Given the description of an element on the screen output the (x, y) to click on. 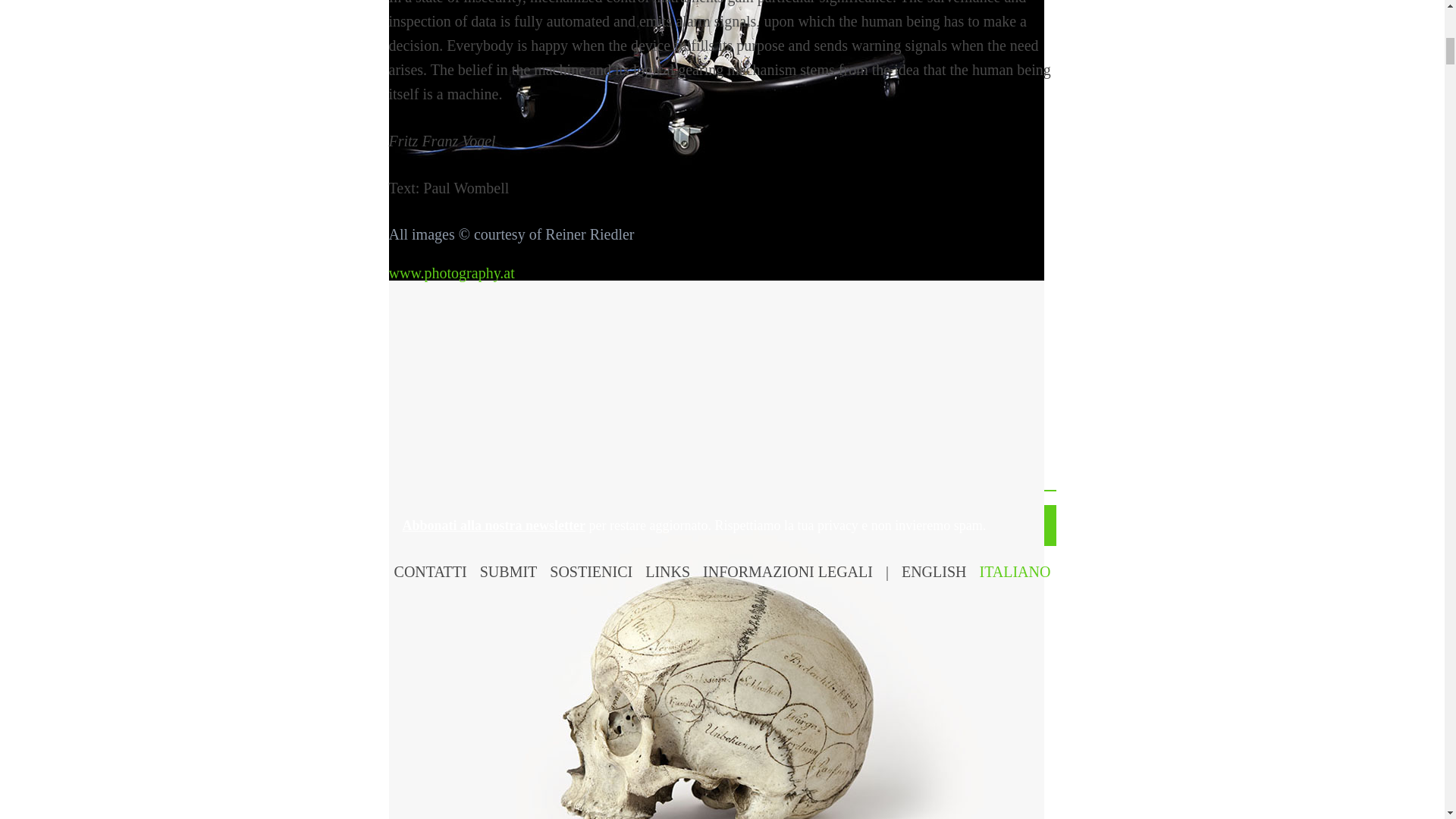
Abbonati alla nostra newsletter (493, 525)
CONTATTI (430, 571)
LINKS (667, 571)
Precedente (440, 376)
SUBMIT (508, 571)
www.photography.at (450, 272)
SOSTIENICI (590, 571)
